Given the description of an element on the screen output the (x, y) to click on. 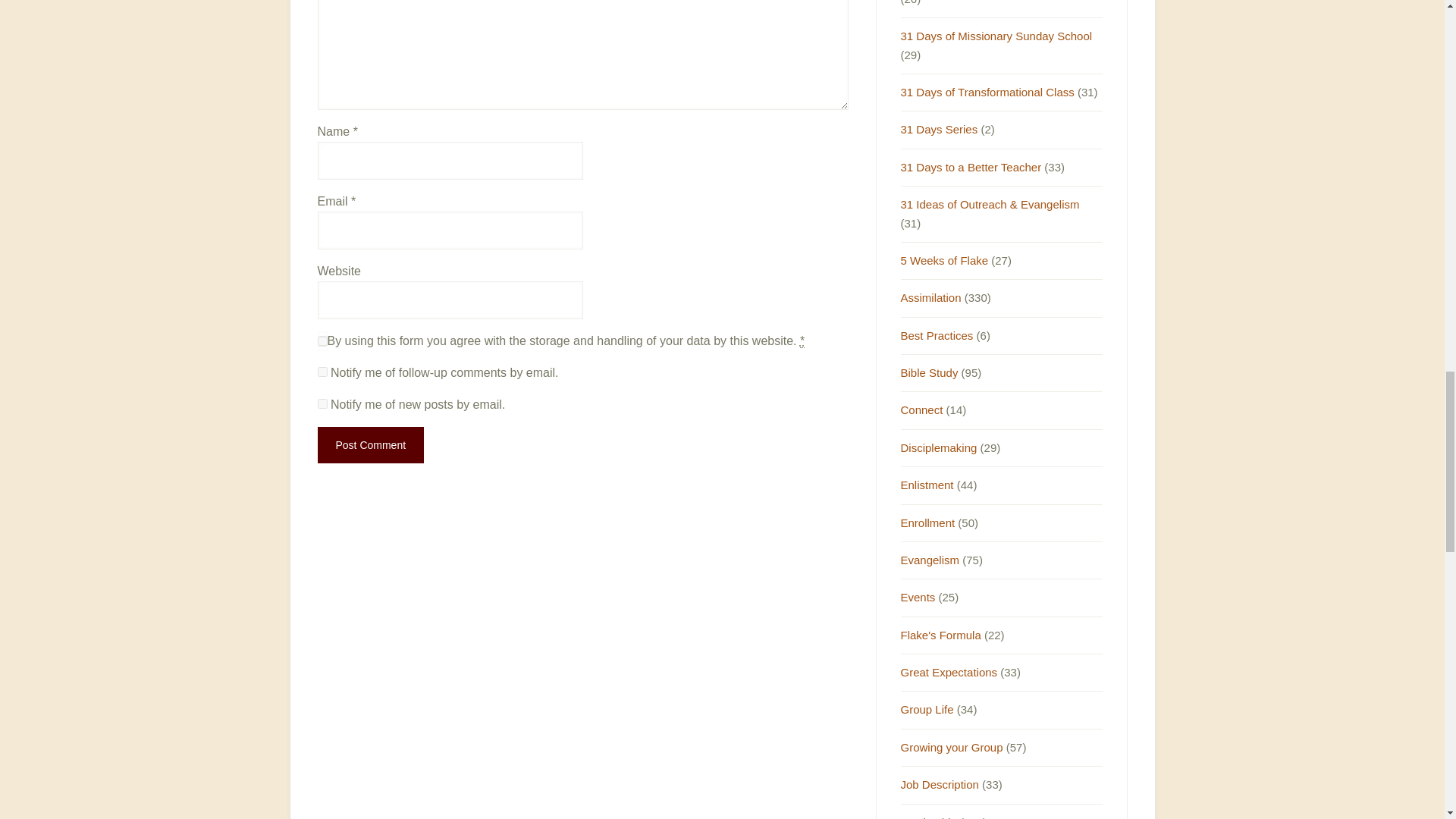
31 Days to a Better Teacher (971, 166)
Disciplemaking (938, 447)
31 Days of Transformational Class (987, 91)
Post Comment (370, 444)
31 Days of Missionary Sunday School (997, 35)
subscribe (321, 403)
31 Days Series (939, 128)
Post Comment (370, 444)
Connect (922, 409)
subscribe (321, 371)
